Given the description of an element on the screen output the (x, y) to click on. 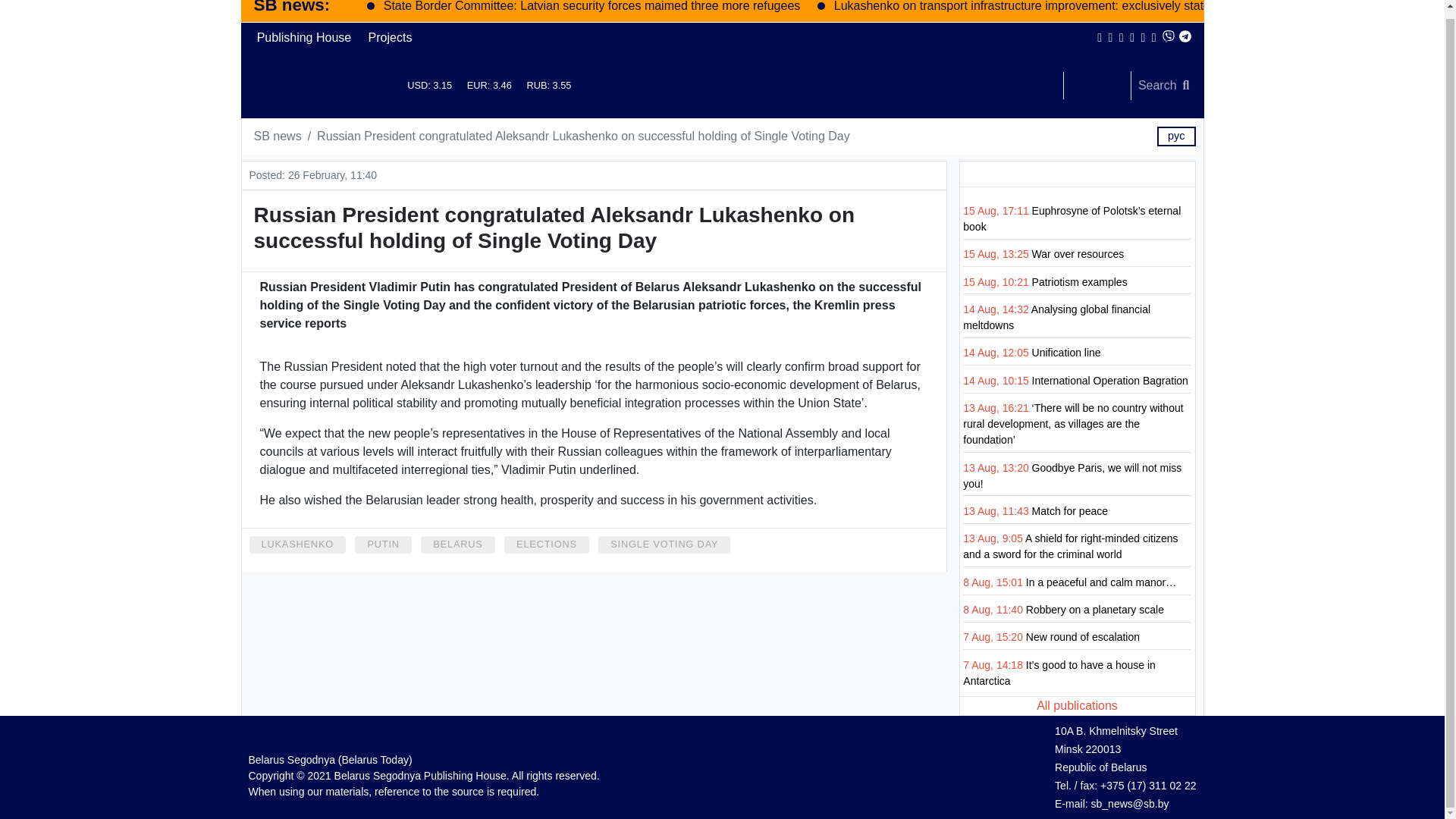
Publishing House (303, 37)
Projects (389, 37)
SB news: (291, 7)
